Given the description of an element on the screen output the (x, y) to click on. 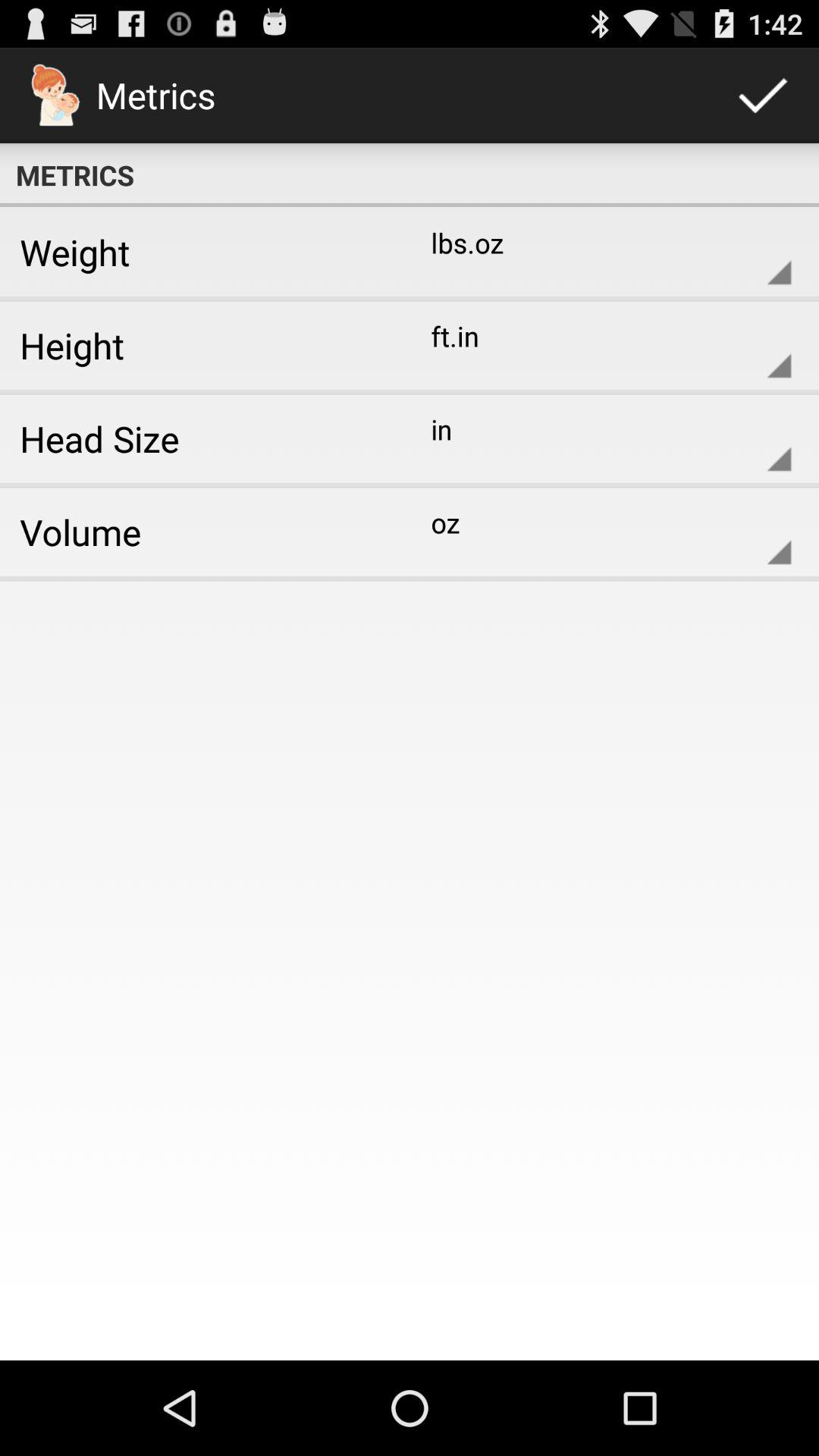
launch the item next to in icon (199, 438)
